Given the description of an element on the screen output the (x, y) to click on. 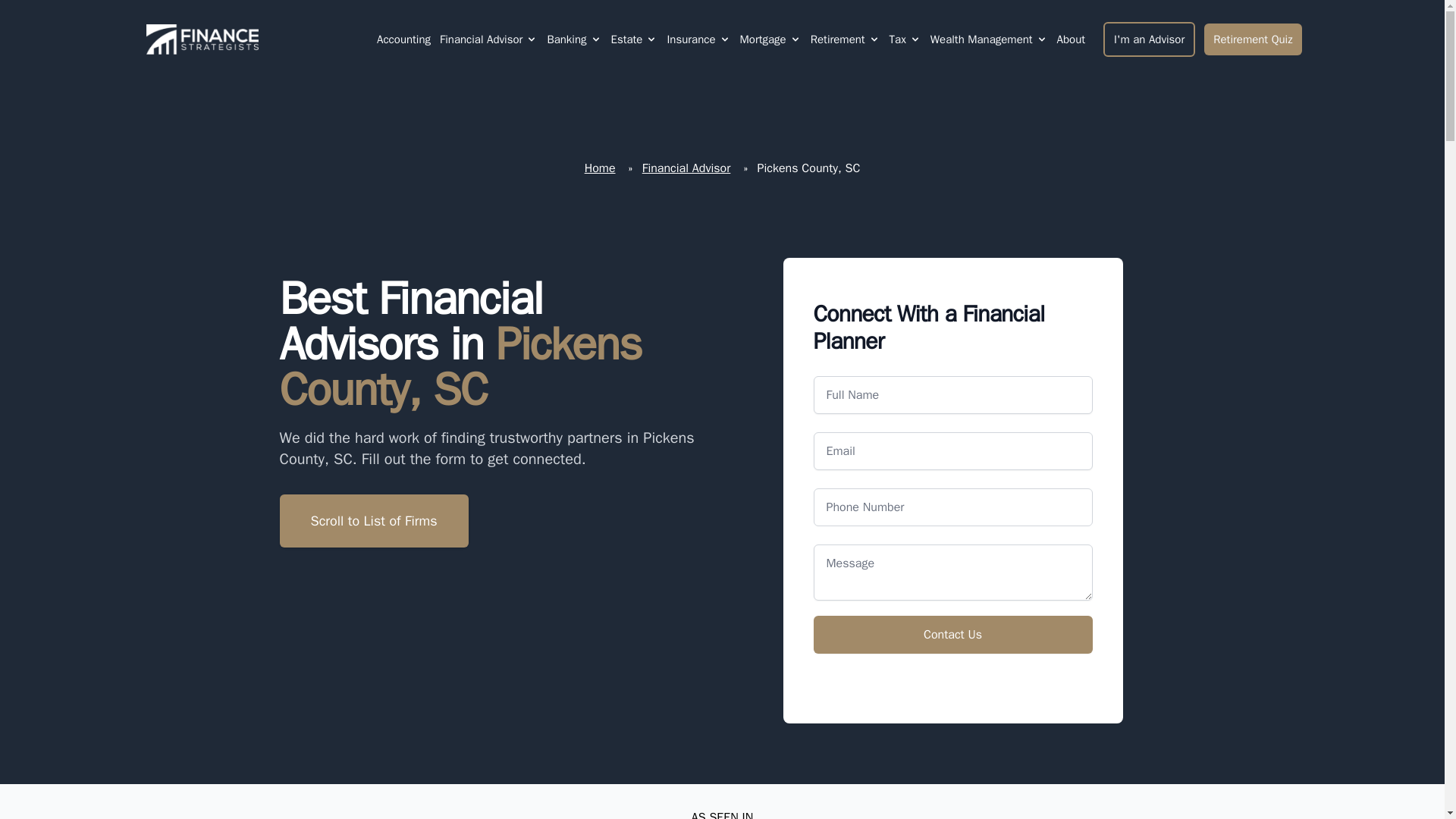
Banking (573, 39)
Accounting (403, 39)
Financial Advisor (488, 39)
Financial Advisor (480, 39)
Finance Strategists (199, 39)
Accounting (403, 39)
Banking (566, 39)
